Given the description of an element on the screen output the (x, y) to click on. 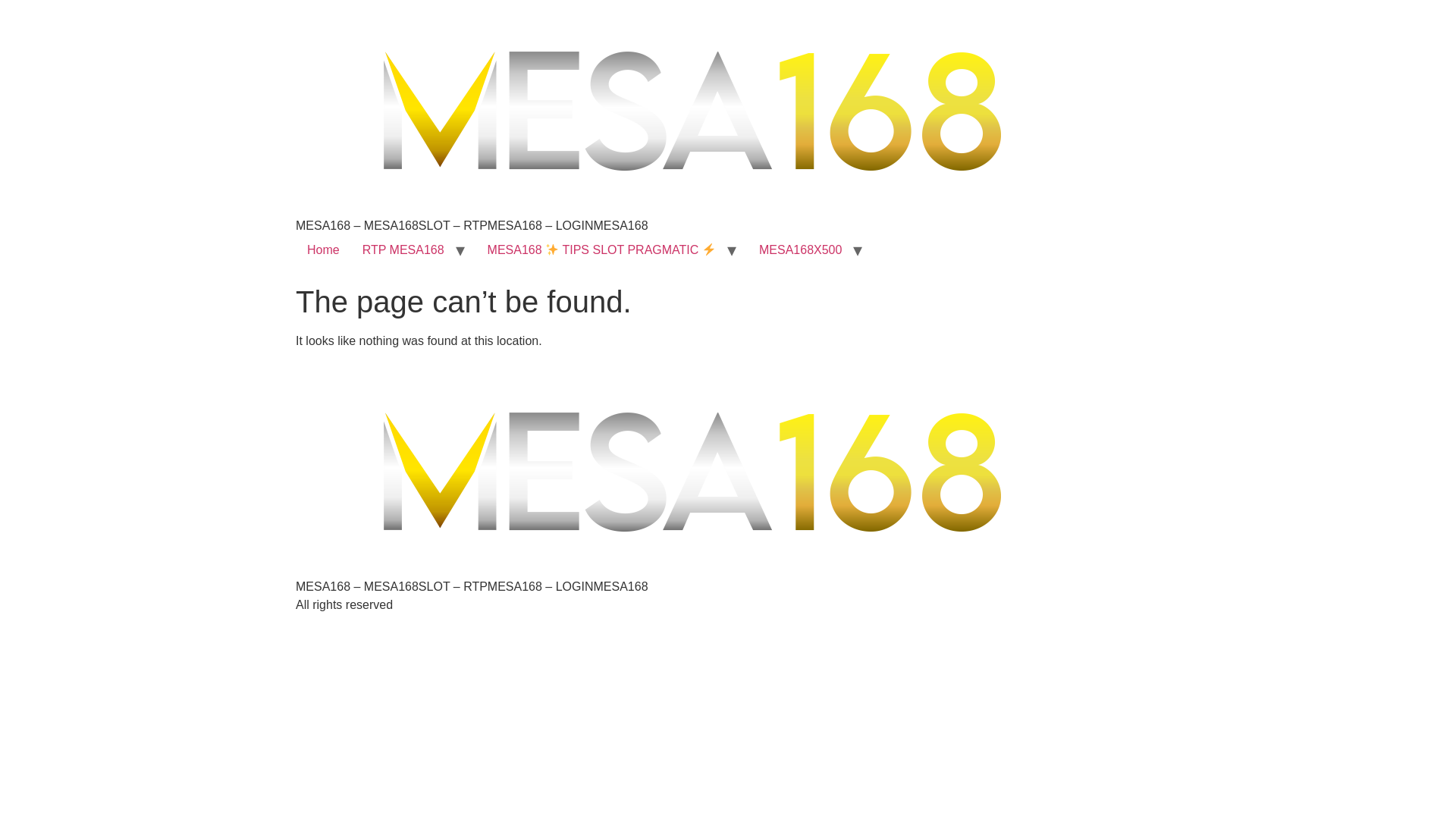
RTP MESA168 (402, 250)
MESA168 TIPS SLOT PRAGMATIC (601, 250)
Home (322, 250)
MESA168X500 (800, 250)
